Given the description of an element on the screen output the (x, y) to click on. 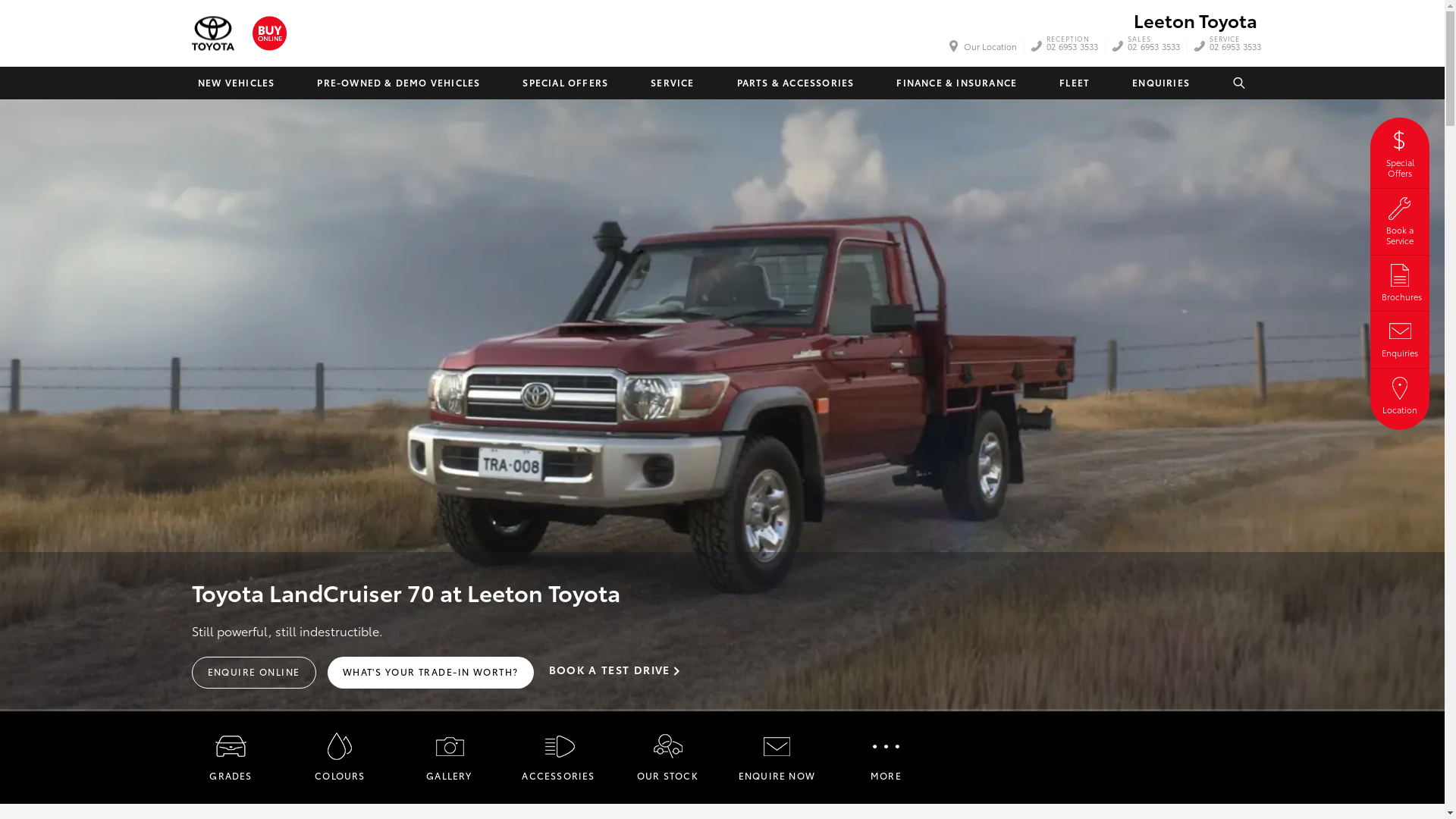
ACCESSORIES Element type: text (557, 757)
PARTS & ACCESSORIES Element type: text (795, 82)
NEW VEHICLES Element type: text (234, 82)
GRADES Element type: text (230, 757)
MORE Element type: text (885, 757)
Leeton Toyota Element type: hover (212, 33)
SEARCH Element type: text (1239, 82)
RECEPTION
02 6953 3533 Element type: text (1072, 45)
ENQUIRE ONLINE Element type: text (253, 672)
SERVICE Element type: text (672, 82)
Leeton Toyota Element type: text (1194, 20)
COLOURS Element type: text (339, 757)
BOOK A TEST DRIVE Element type: text (614, 672)
ENQUIRE NOW Element type: text (776, 757)
OUR STOCK Element type: text (666, 757)
GALLERY Element type: text (448, 757)
WHAT'S YOUR TRADE-IN WORTH? Element type: text (430, 672)
Buy Online Element type: hover (268, 33)
Book a Service Element type: text (1399, 219)
ENQUIRIES Element type: text (1160, 82)
PRE-OWNED & DEMO VEHICLES Element type: text (398, 82)
SERVICE
02 6953 3533 Element type: text (1235, 45)
SPECIAL OFFERS Element type: text (565, 82)
Location Element type: text (1399, 393)
SALES
02 6953 3533 Element type: text (1153, 45)
FLEET Element type: text (1074, 82)
FINANCE & INSURANCE Element type: text (956, 82)
Our Location Element type: text (983, 45)
Enquiries Element type: text (1399, 336)
Brochures Element type: text (1399, 280)
Special Offers Element type: text (1399, 151)
